Given the description of an element on the screen output the (x, y) to click on. 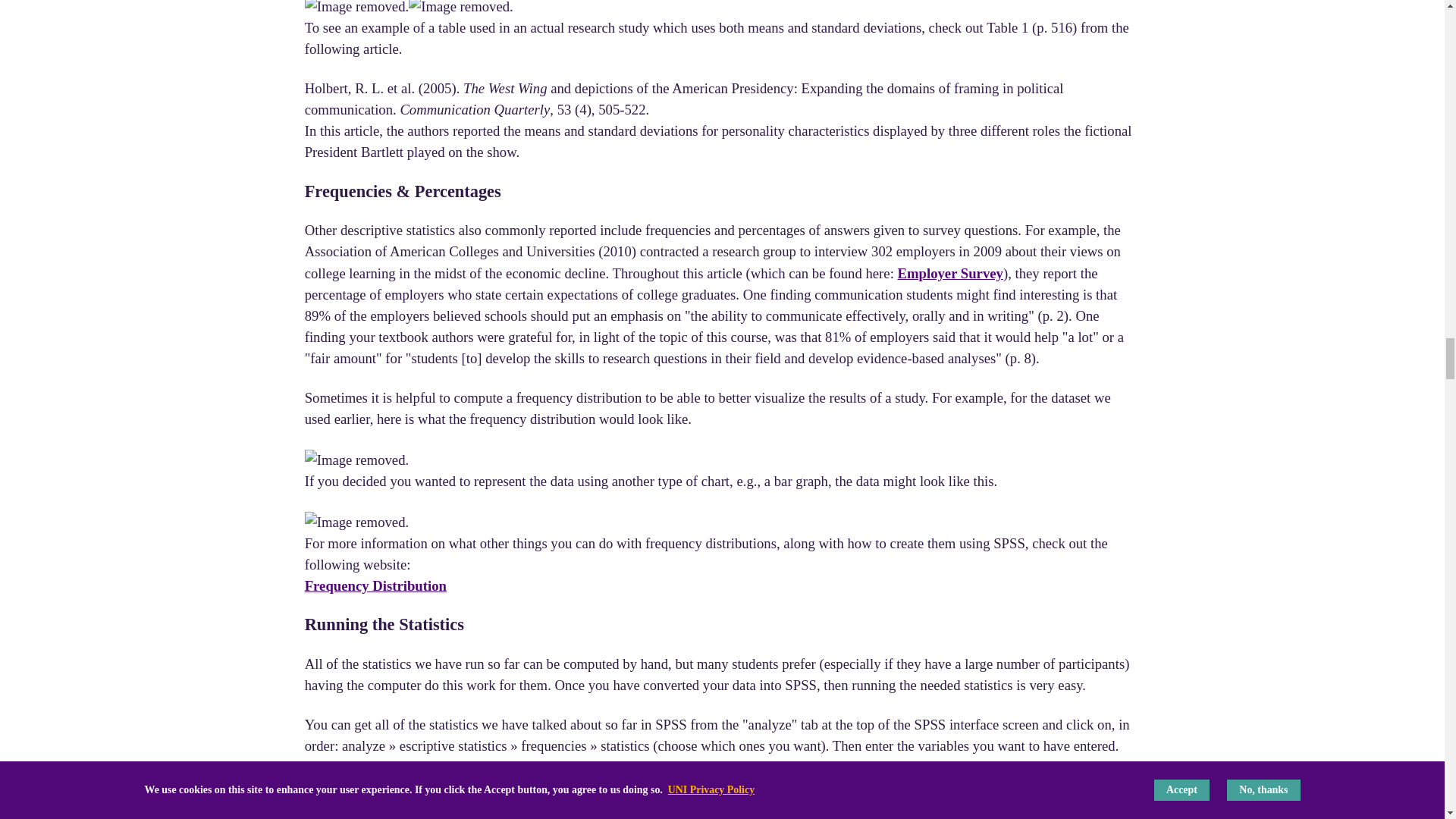
Employer Survey (950, 273)
